Given the description of an element on the screen output the (x, y) to click on. 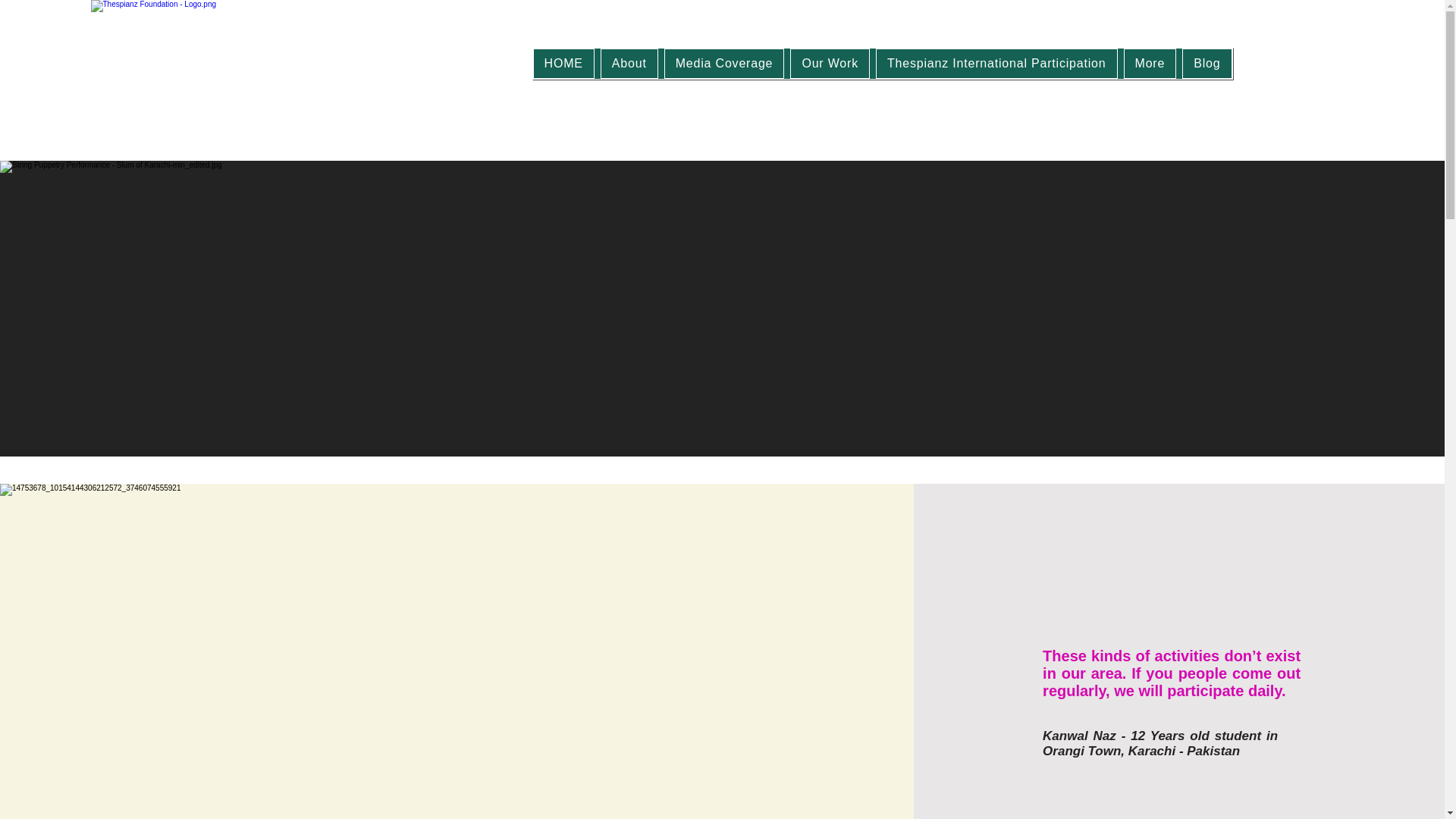
More (1150, 63)
Blog (1206, 63)
About (628, 63)
HOME (563, 63)
Thespianz International Participation (997, 63)
Media Coverage (723, 63)
Our Work (829, 63)
